Given the description of an element on the screen output the (x, y) to click on. 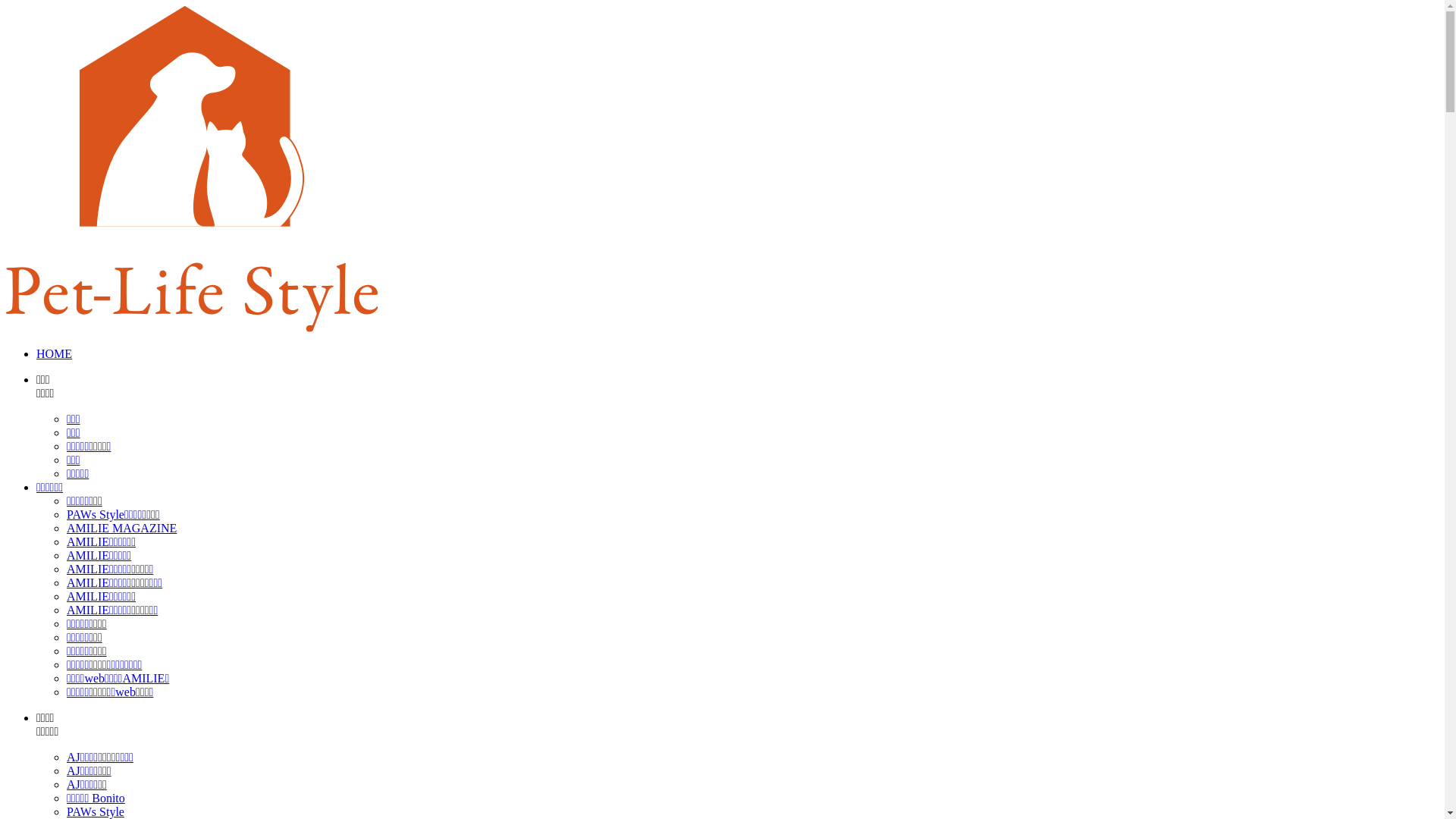
AMILIE MAGAZINE Element type: text (121, 527)
HOME Element type: text (54, 353)
PAWs Style Element type: text (95, 811)
